Given the description of an element on the screen output the (x, y) to click on. 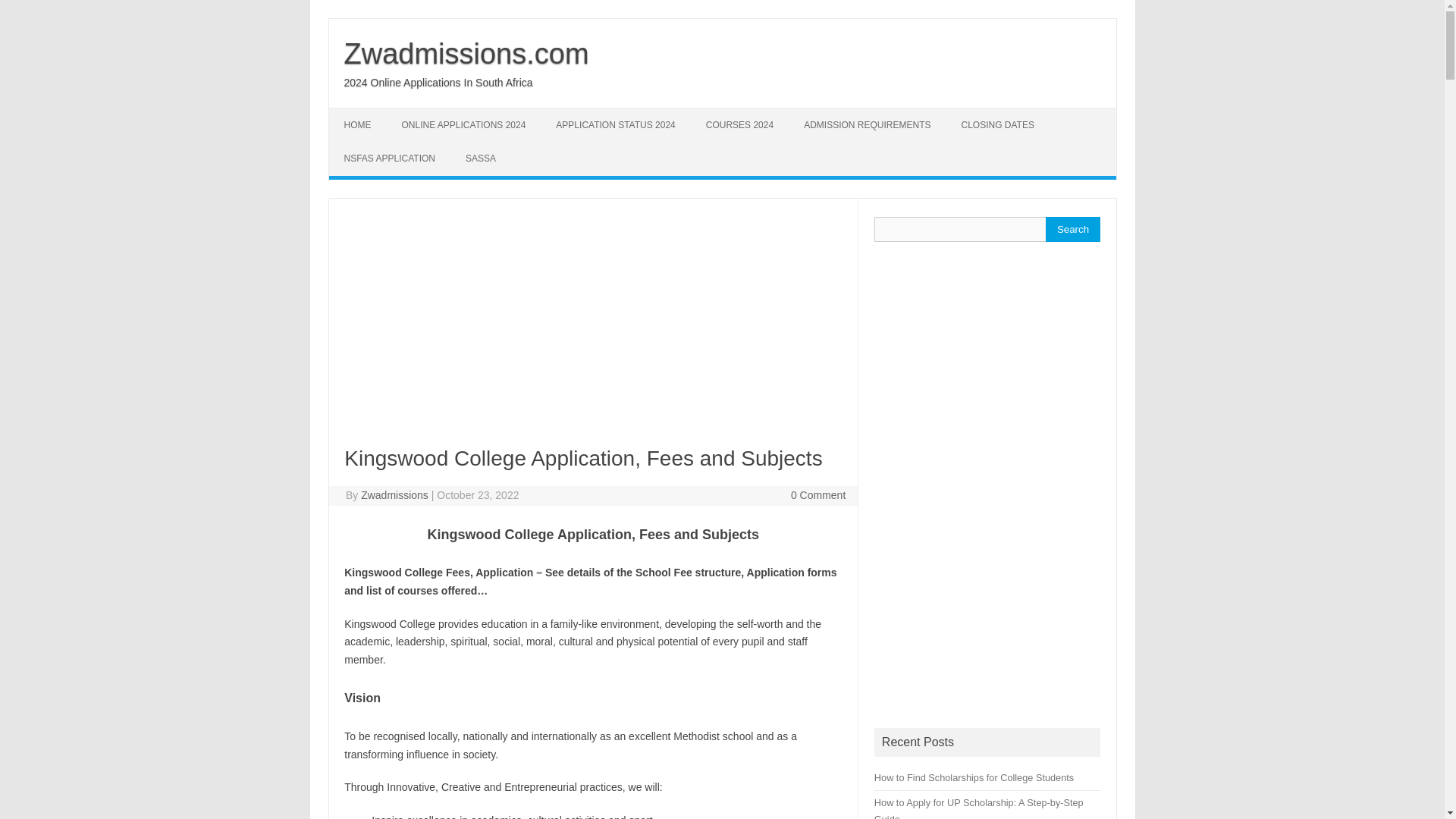
NSFAS APPLICATION (389, 158)
0 Comment (817, 494)
HOME (358, 124)
ADMISSION REQUIREMENTS (866, 124)
APPLICATION STATUS 2024 (615, 124)
Posts by Zwadmissions (394, 494)
Search (1072, 229)
COURSES 2024 (739, 124)
2024 Online Applications In South Africa (437, 82)
